Given the description of an element on the screen output the (x, y) to click on. 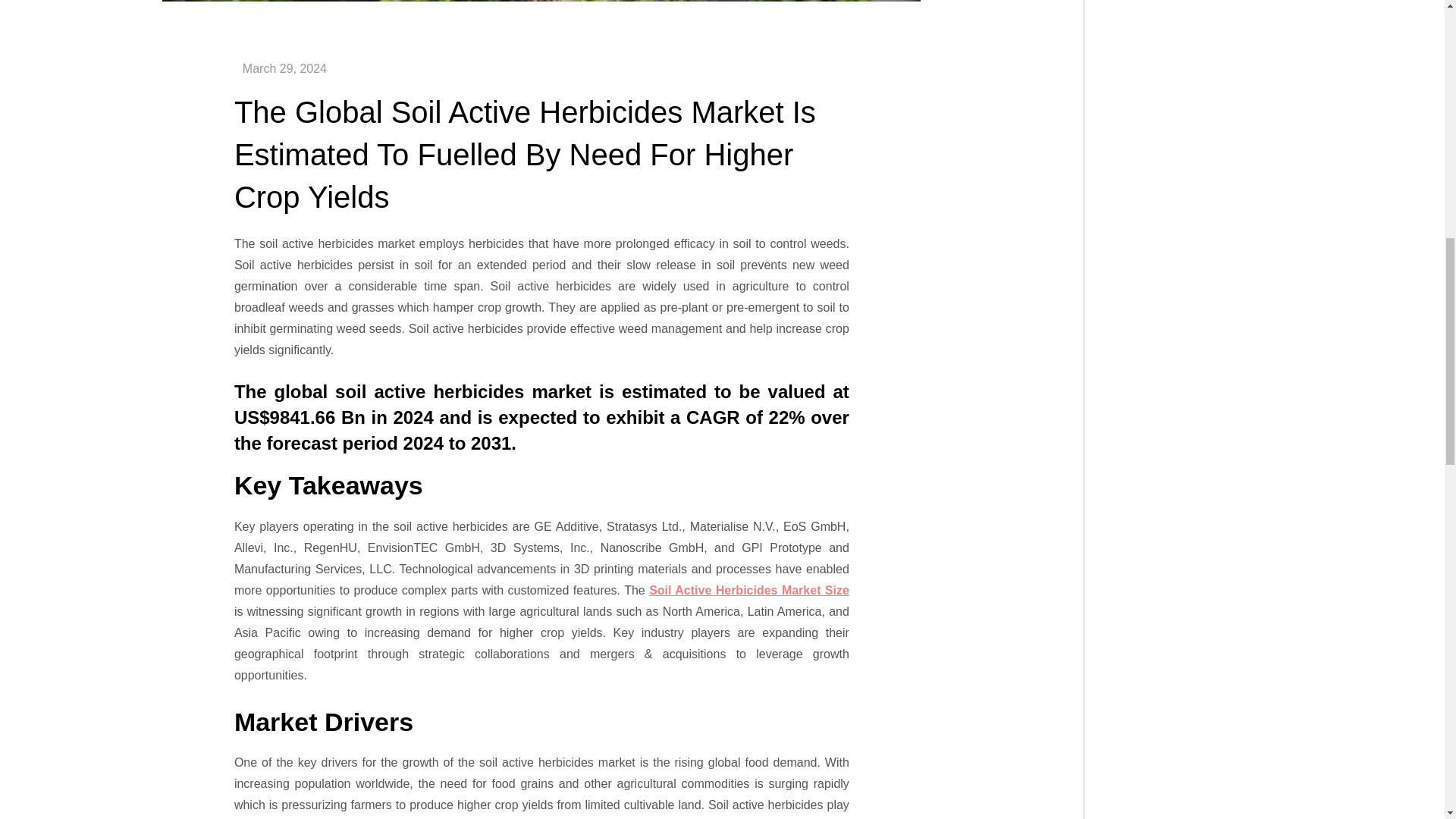
Soil Active Herbicides Market Size (748, 590)
March 29, 2024 (284, 68)
